Given the description of an element on the screen output the (x, y) to click on. 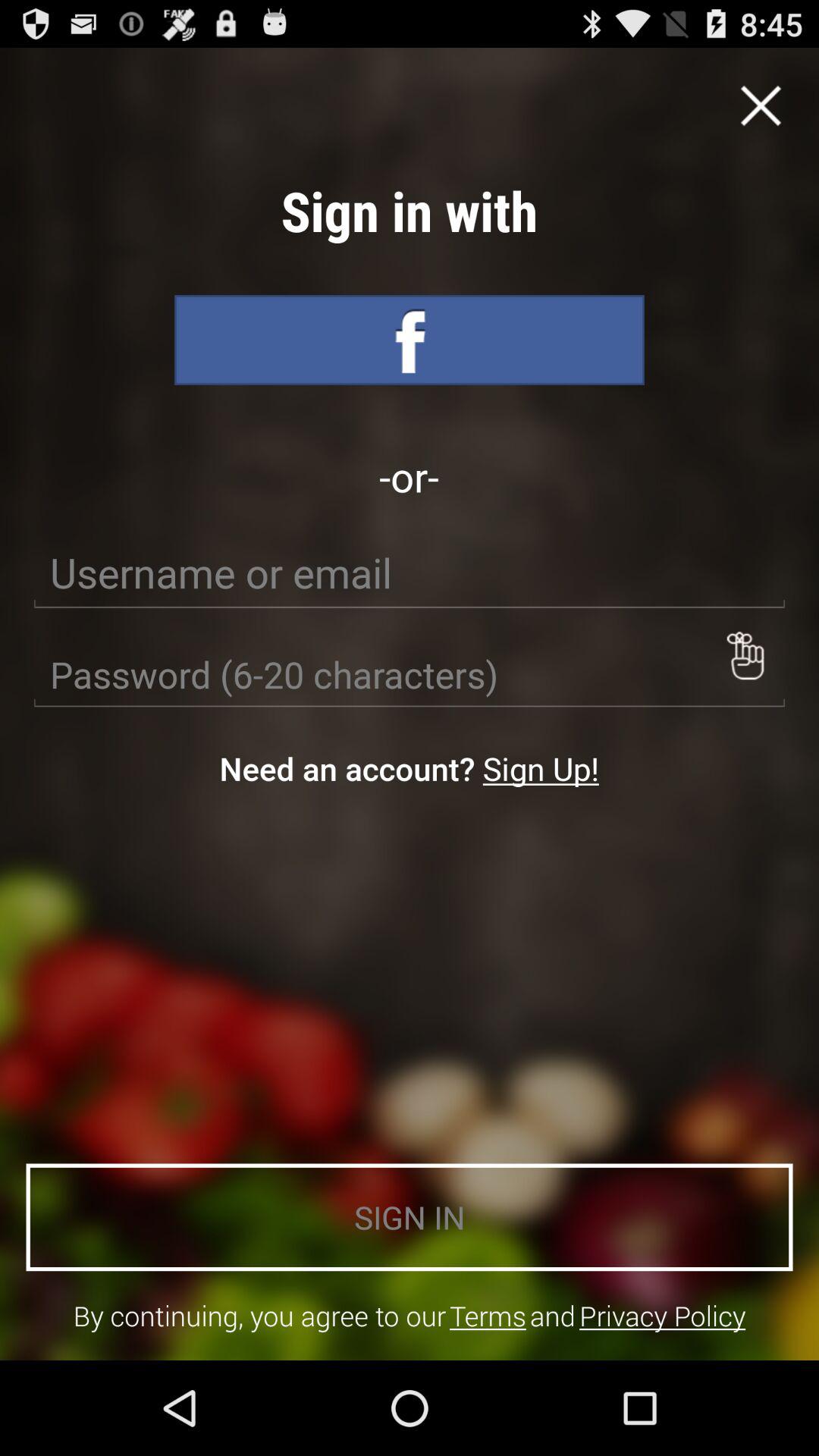
close (760, 105)
